Given the description of an element on the screen output the (x, y) to click on. 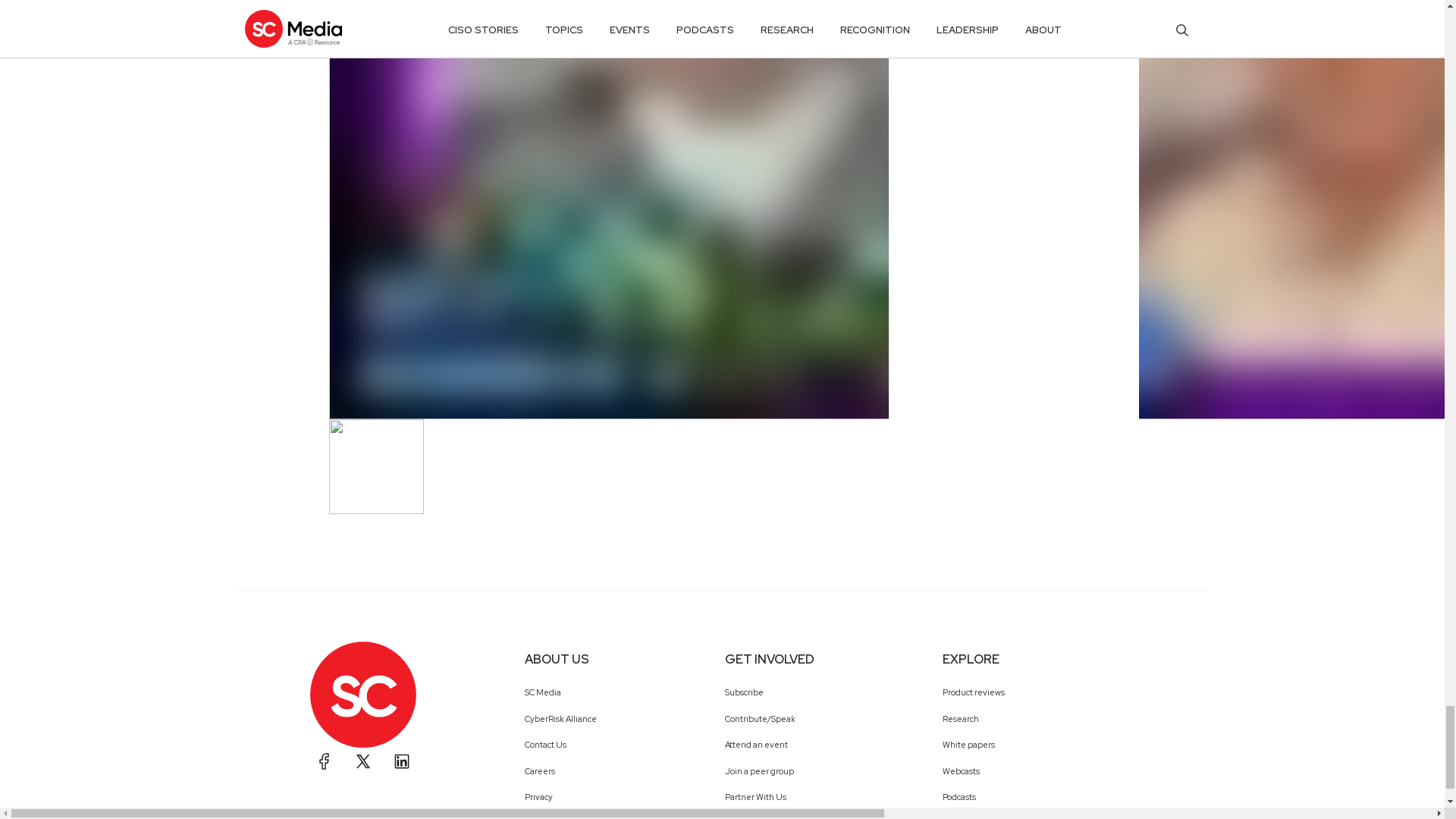
SC Media (362, 693)
SCMagazine on Facebook (324, 761)
SCMagazine on LinkedIn (401, 761)
SCMagazine on Twitter (362, 761)
